Given the description of an element on the screen output the (x, y) to click on. 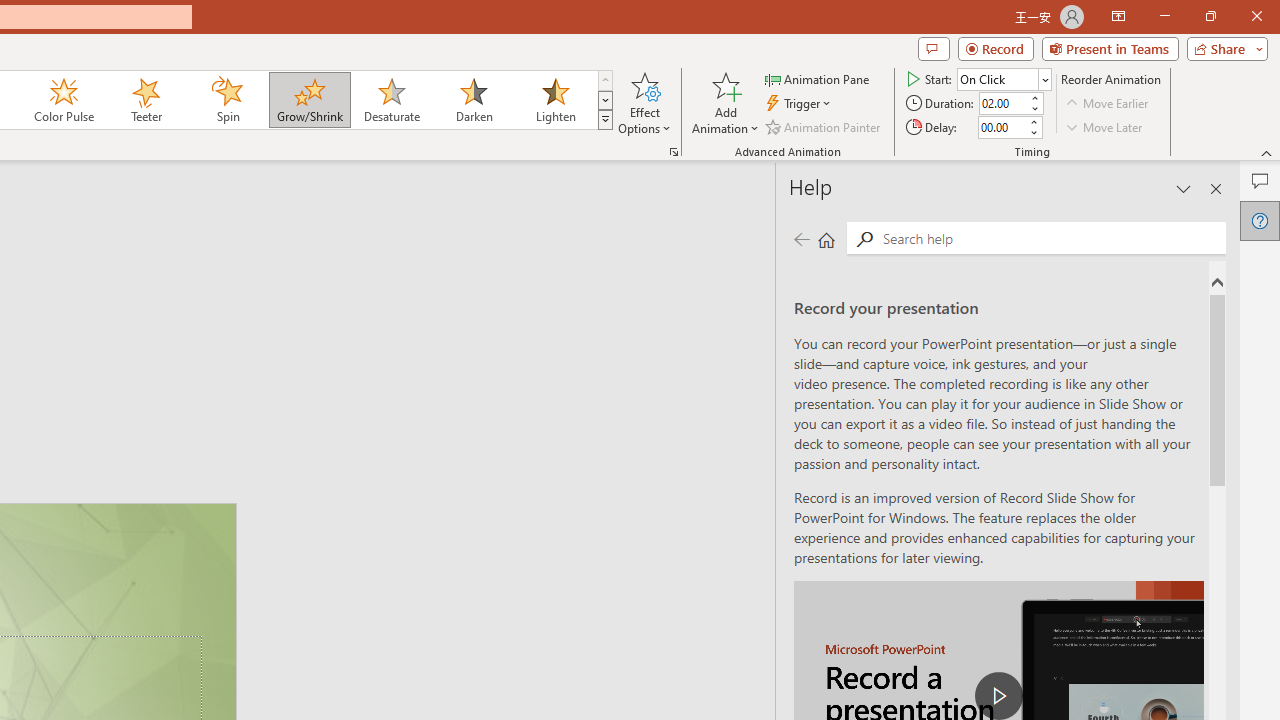
Spin (227, 100)
play Record a Presentation (998, 695)
Animation Painter (824, 126)
Move Earlier (1107, 103)
Color Pulse (63, 100)
Animation Styles (605, 120)
Teeter (145, 100)
